Given the description of an element on the screen output the (x, y) to click on. 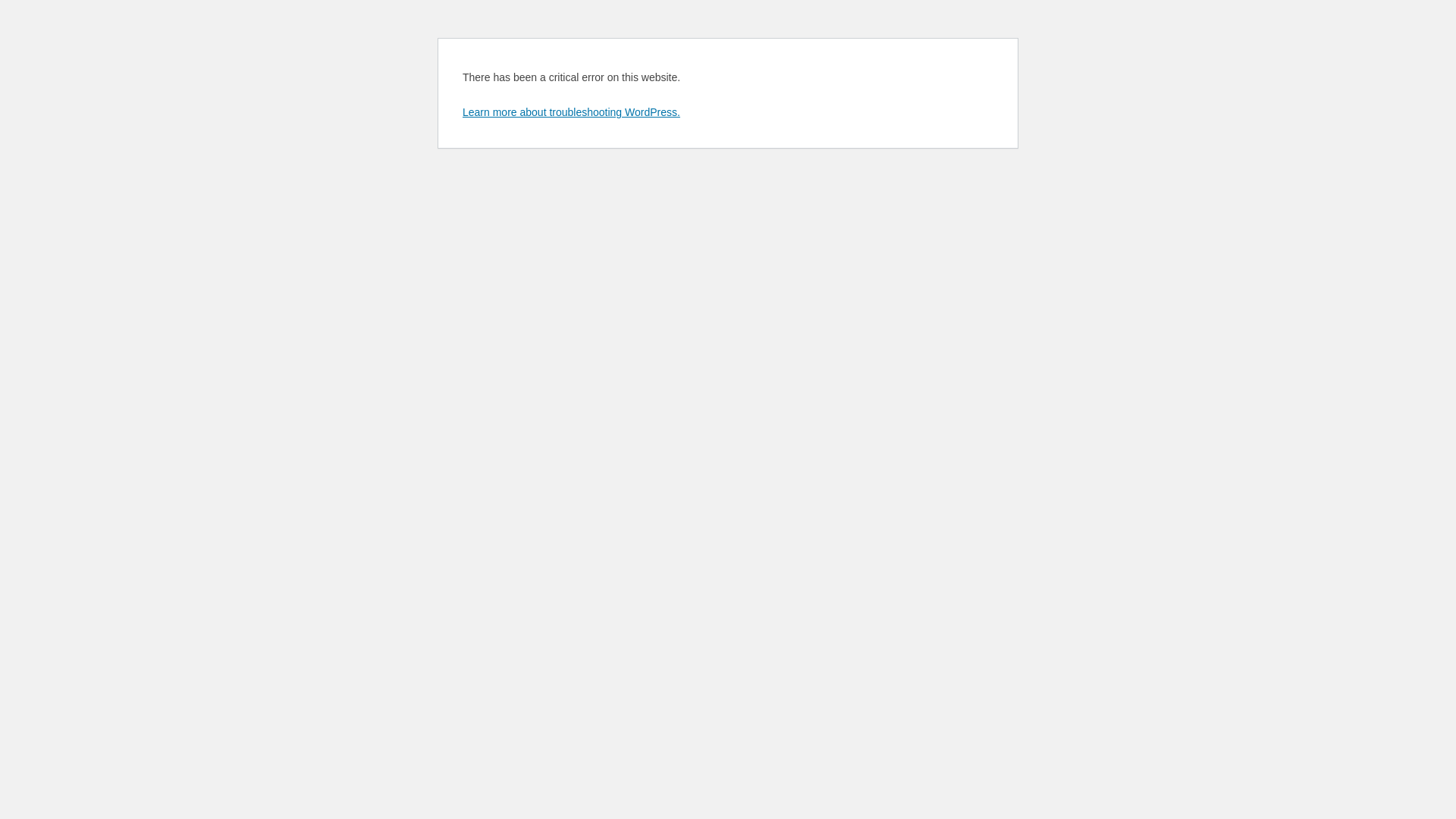
Learn more about troubleshooting WordPress. Element type: text (571, 112)
